Given the description of an element on the screen output the (x, y) to click on. 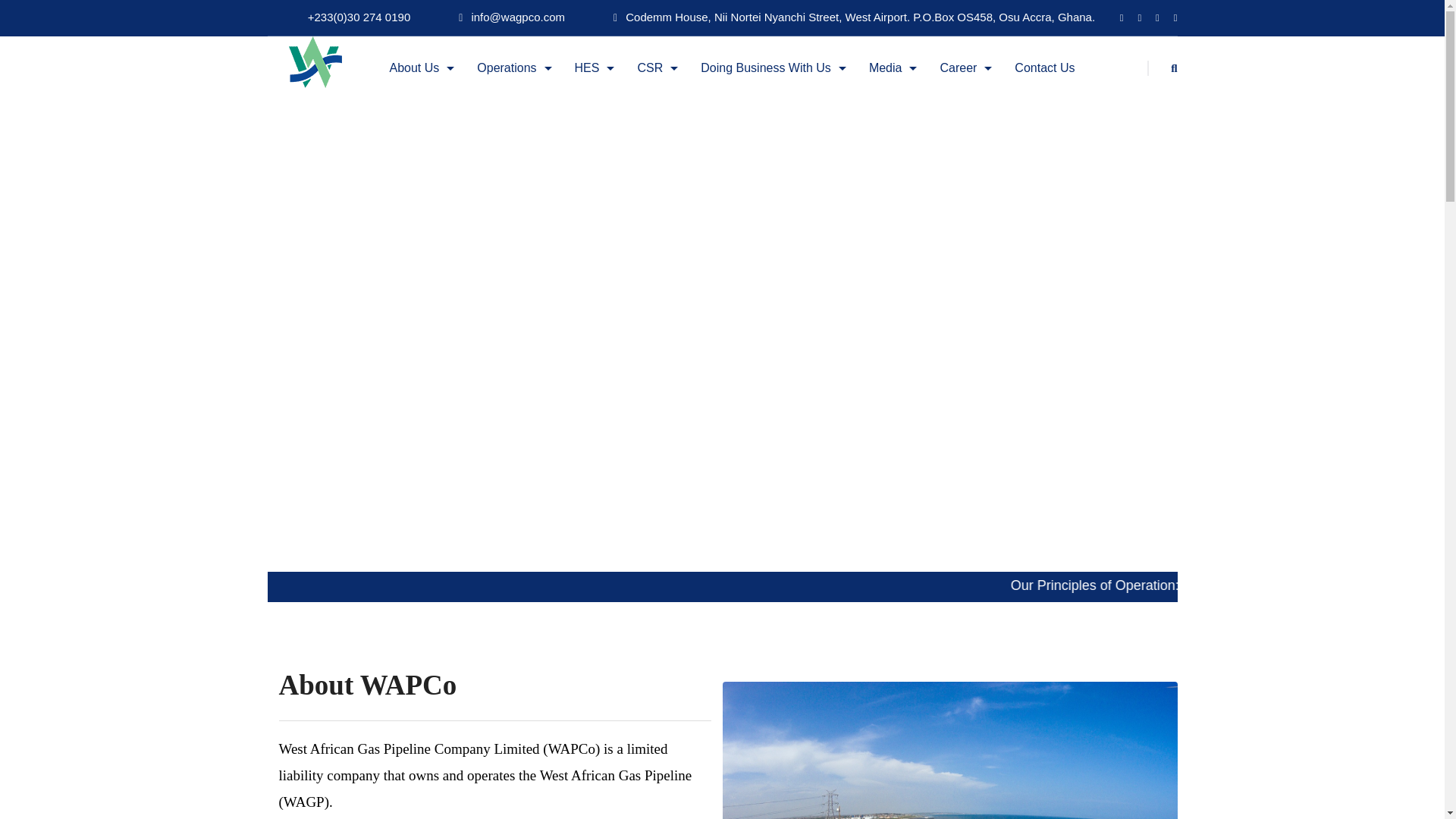
Operations (513, 66)
WAPCo (317, 61)
Doing Business With Us (772, 66)
Operations (429, 117)
HES (502, 117)
HES Policy (574, 117)
Career (996, 155)
Media (833, 117)
Our Mission, Vision And Values (521, 117)
Corporate Responsibility (626, 117)
Company Profile (346, 155)
Media Releases (833, 155)
Career (965, 66)
WAGP System (429, 155)
HES (594, 66)
